Given the description of an element on the screen output the (x, y) to click on. 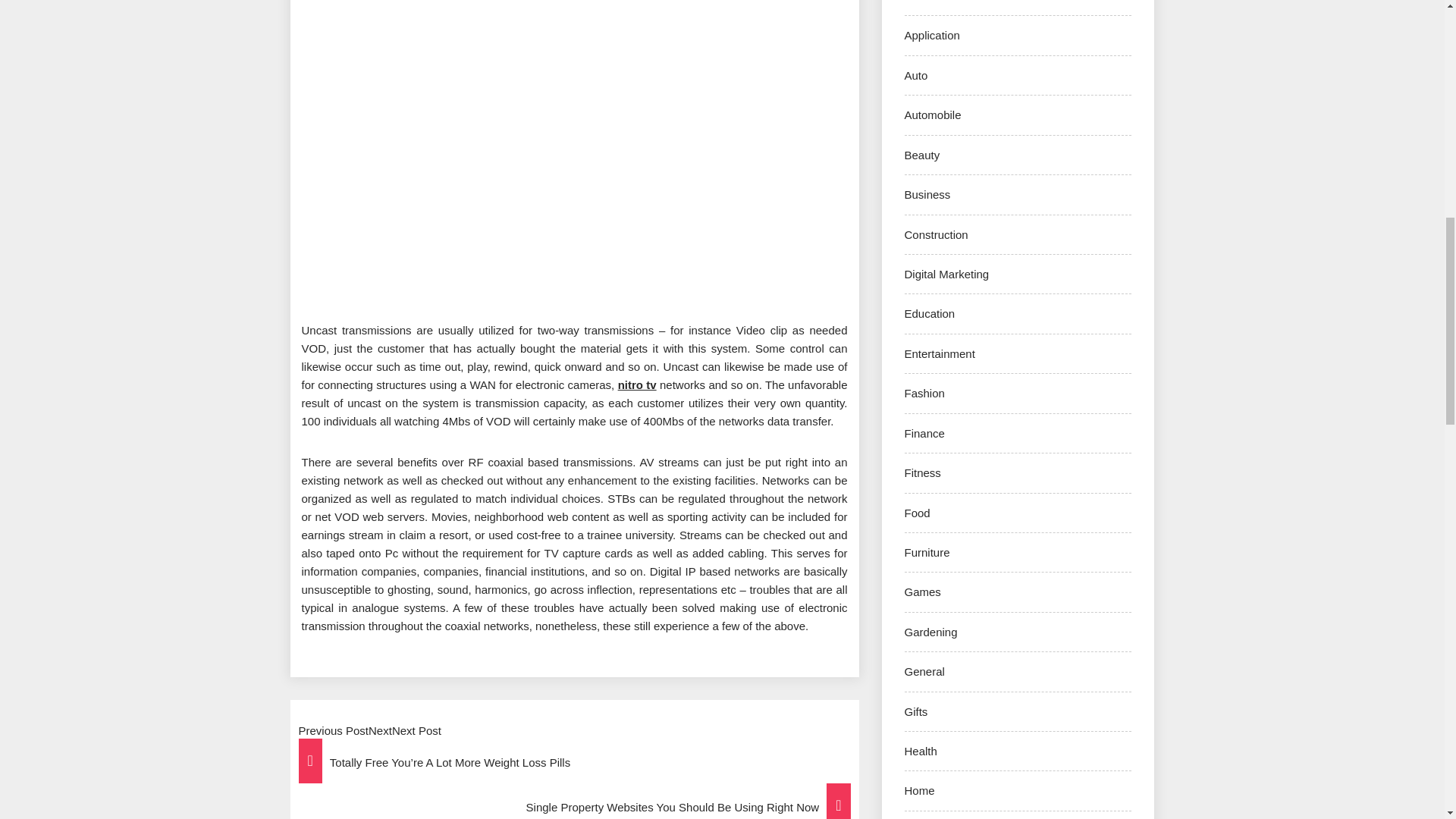
Application (931, 34)
General (923, 671)
Fitness (922, 472)
Food (917, 512)
nitro tv (636, 384)
Finance (923, 432)
Furniture (926, 552)
Business (927, 194)
Auto (915, 74)
Games (922, 591)
